Given the description of an element on the screen output the (x, y) to click on. 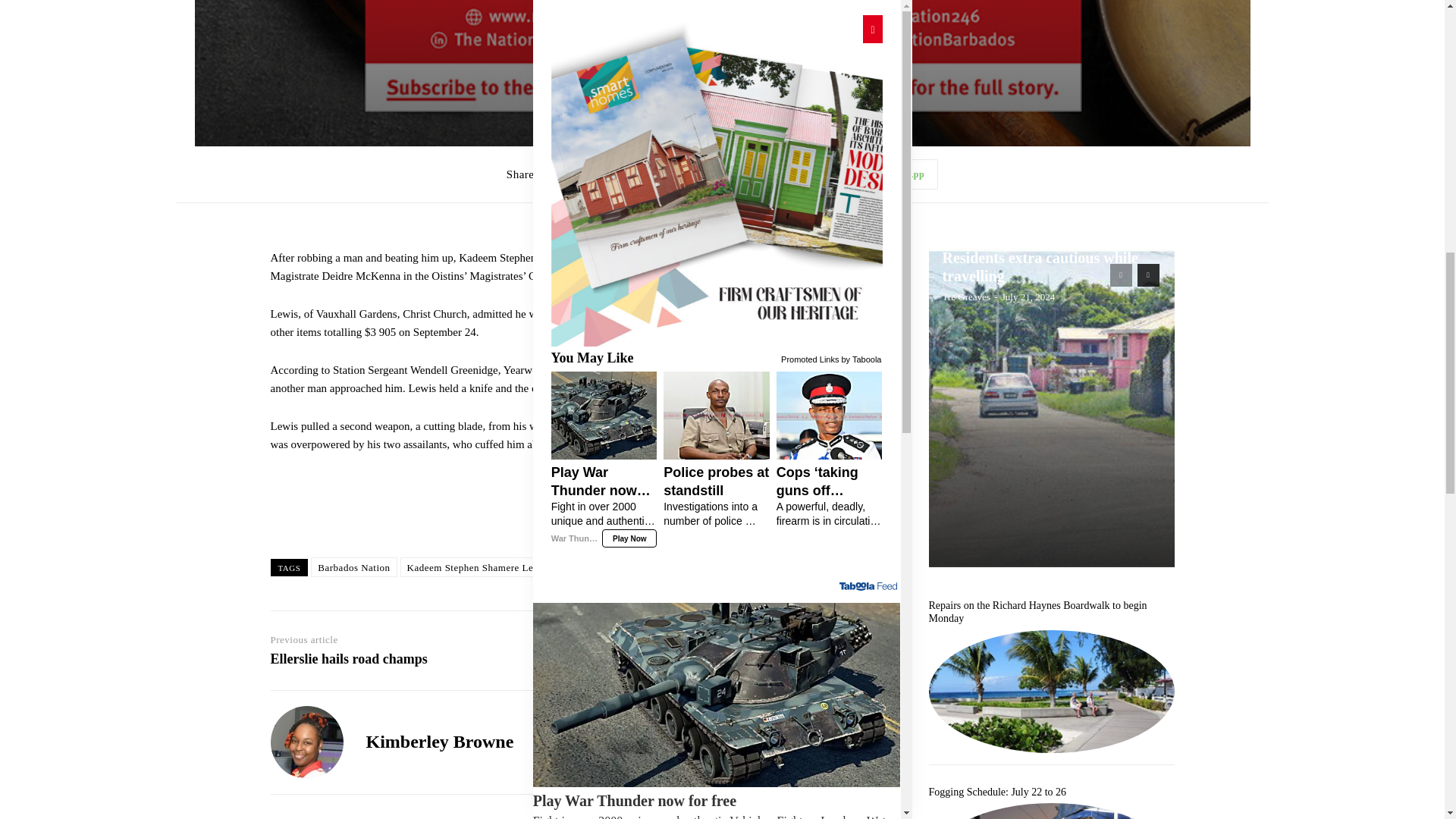
Sponsored (879, 522)
Sponsored (879, 56)
Police probes at standstill (809, 209)
Play Now (561, 58)
Play War Thunder now for free (716, 30)
